Given the description of an element on the screen output the (x, y) to click on. 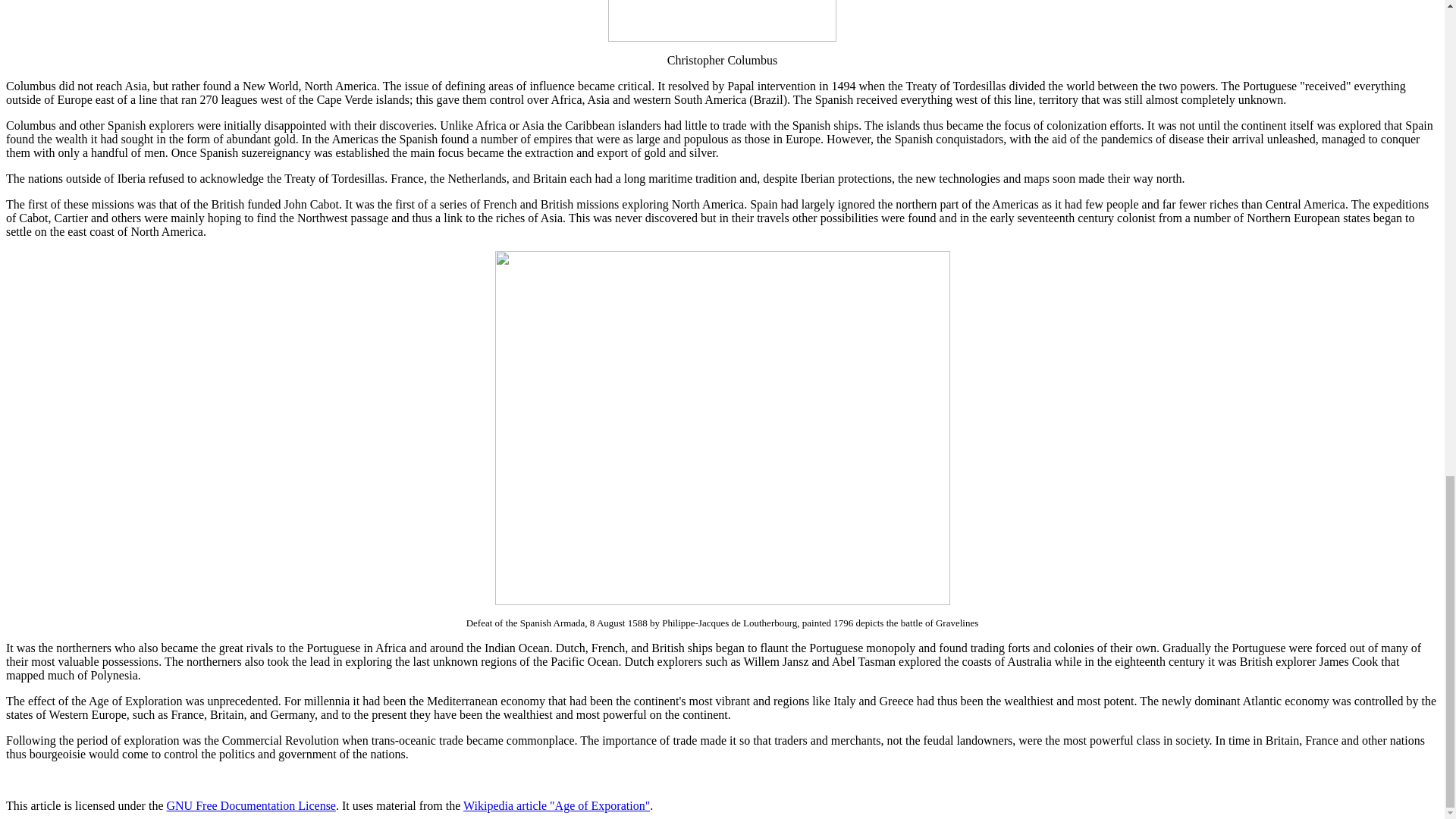
GNU Free Documentation License (249, 805)
Wikipedia article "Age of Exporation" (556, 805)
